Given the description of an element on the screen output the (x, y) to click on. 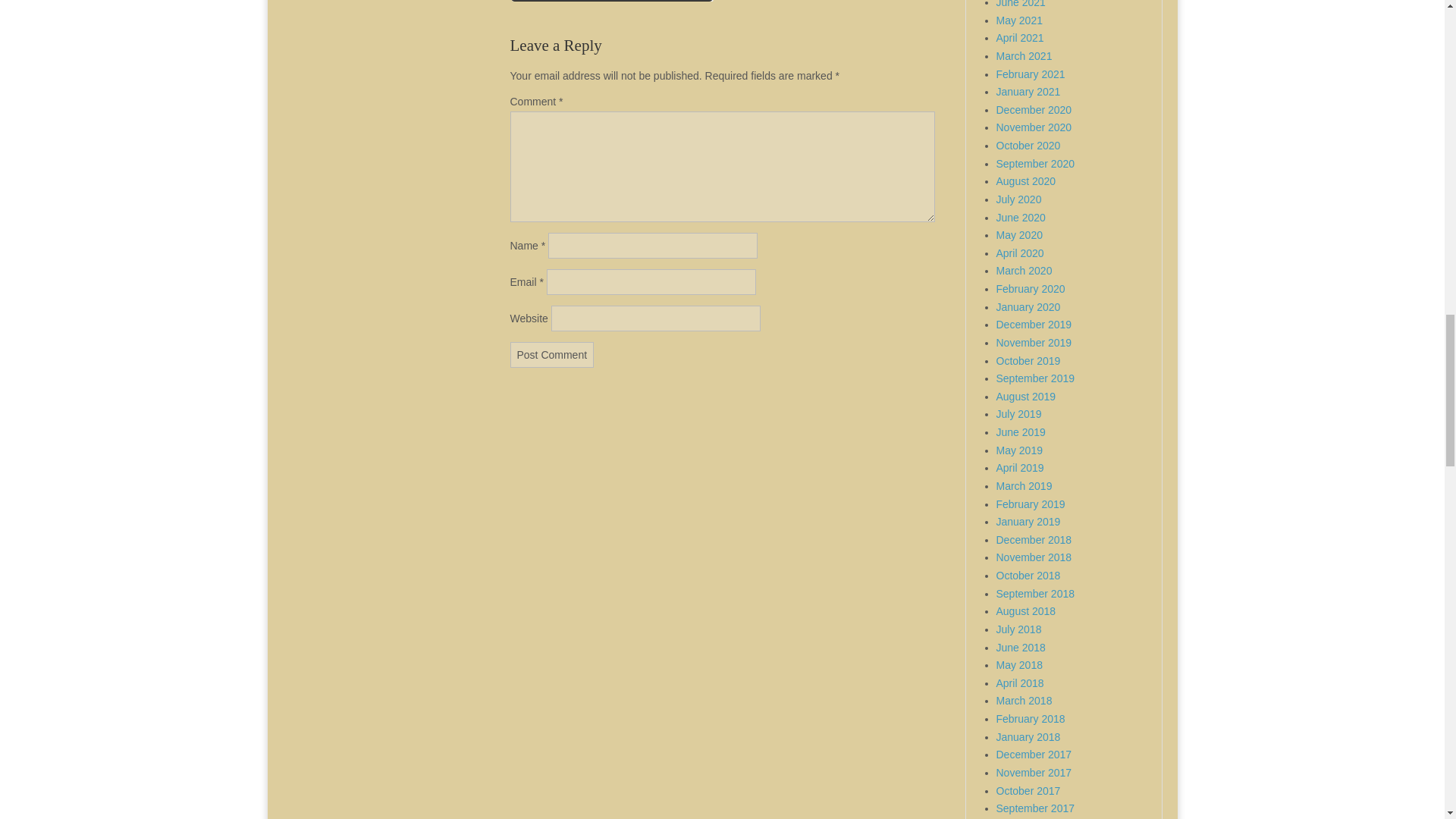
Post Comment (551, 354)
Post Comment (551, 354)
